Given the description of an element on the screen output the (x, y) to click on. 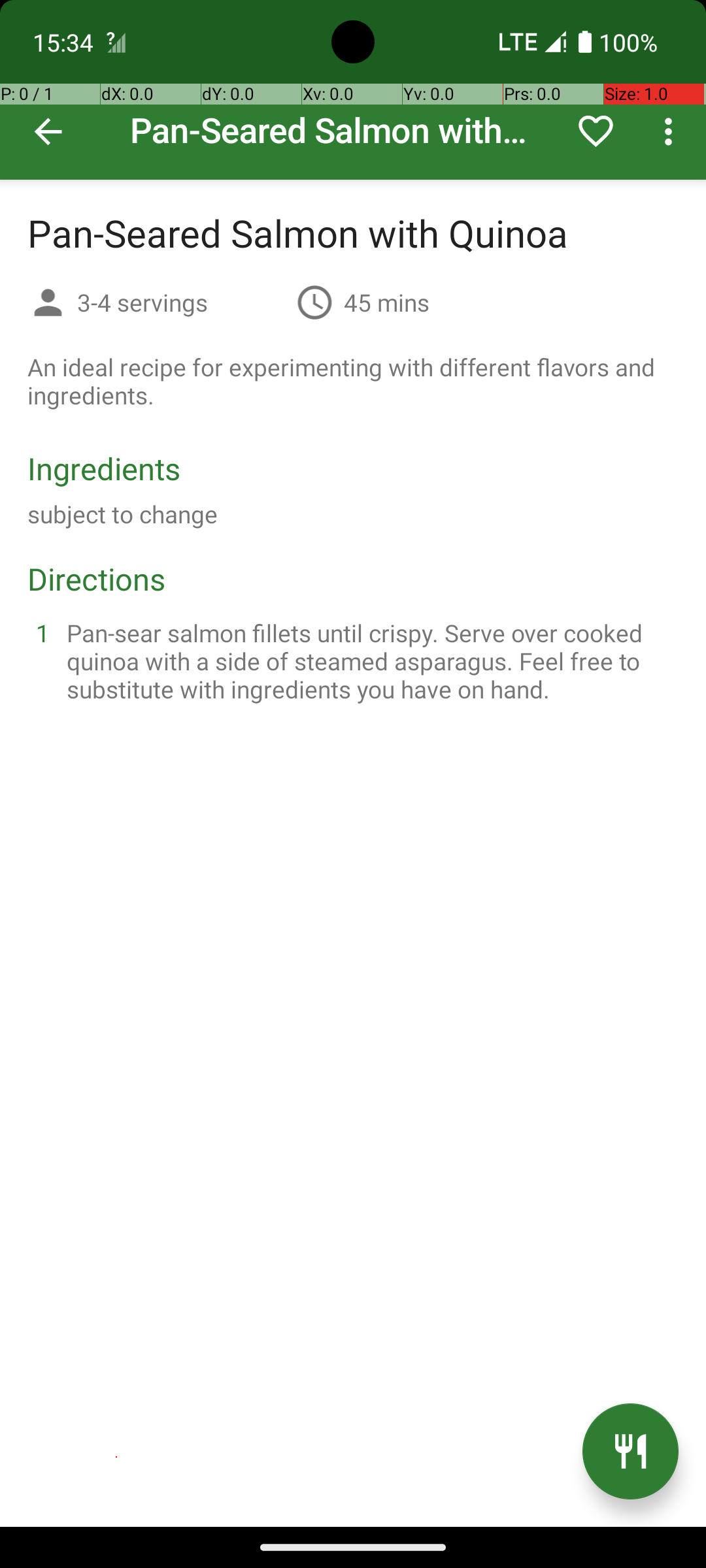
Pan-sear salmon fillets until crispy. Serve over cooked quinoa with a side of steamed asparagus. Feel free to substitute with ingredients you have on hand. Element type: android.widget.TextView (368, 660)
